Given the description of an element on the screen output the (x, y) to click on. 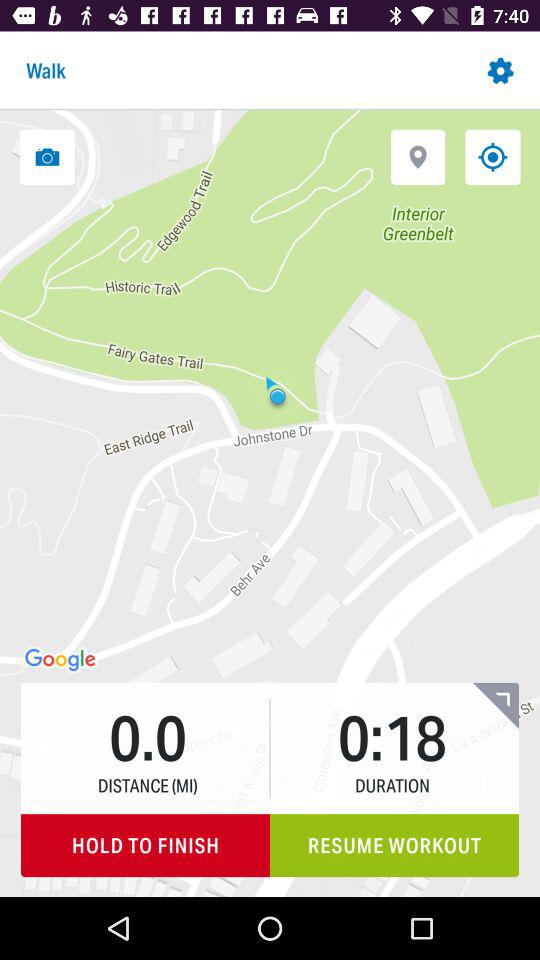
screenshot (47, 156)
